Given the description of an element on the screen output the (x, y) to click on. 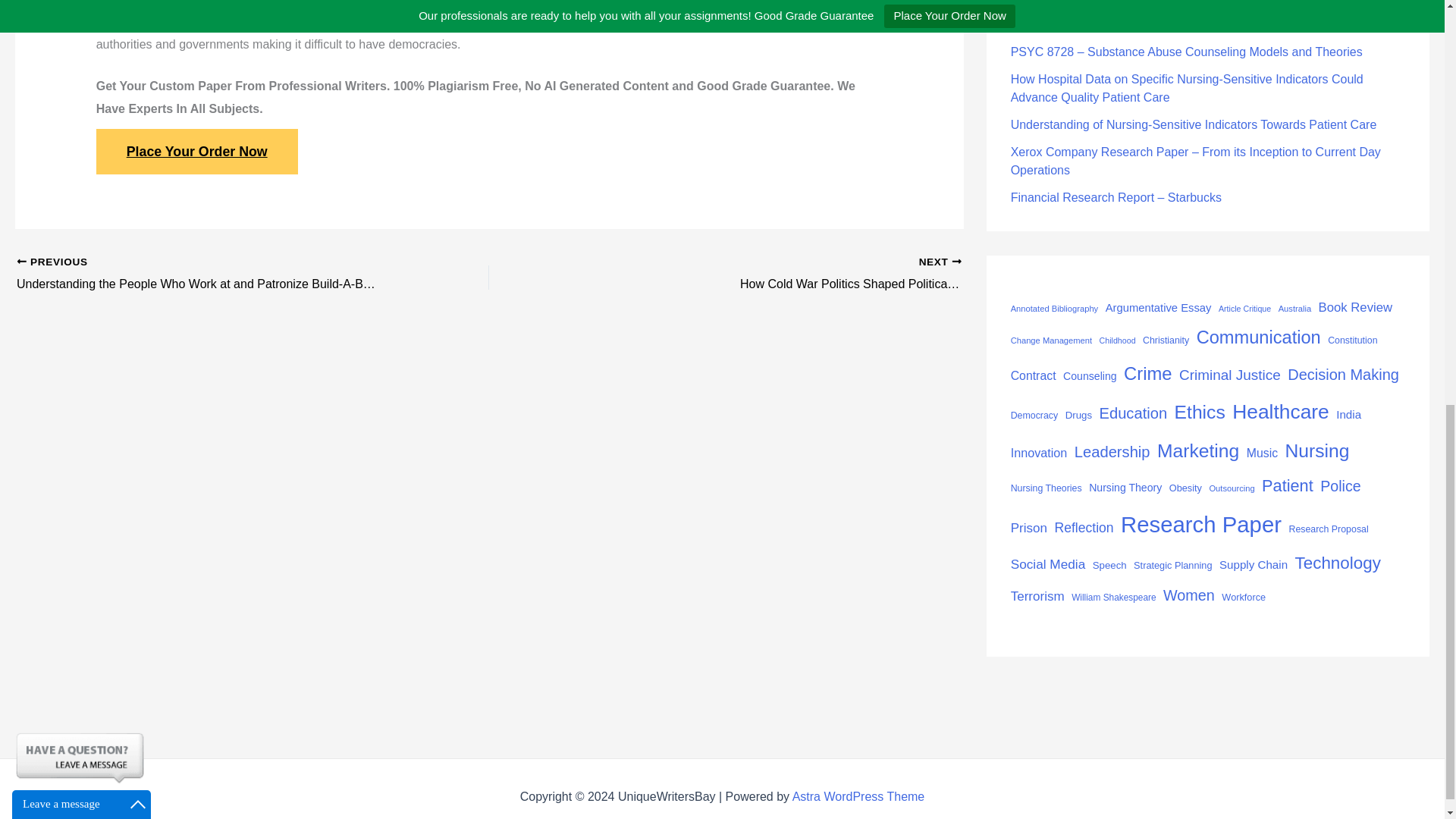
Democracy (1034, 415)
Education (1133, 413)
Article Critique (1244, 308)
Counseling (1089, 375)
Contract (1033, 375)
Book Review (1355, 307)
Communication (1258, 337)
